Given the description of an element on the screen output the (x, y) to click on. 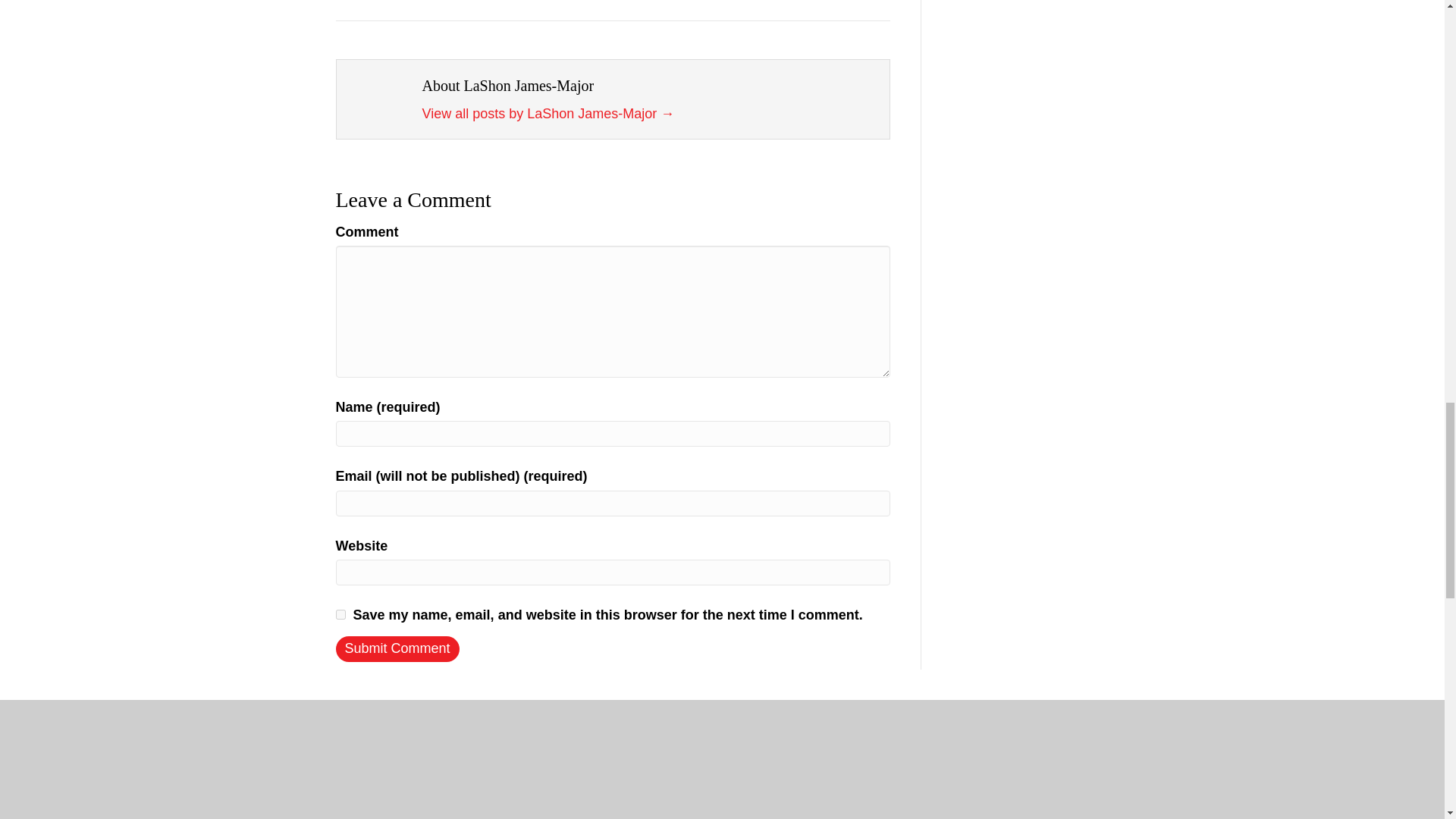
yes (339, 614)
Submit Comment (396, 648)
Submit Comment (396, 648)
